Given the description of an element on the screen output the (x, y) to click on. 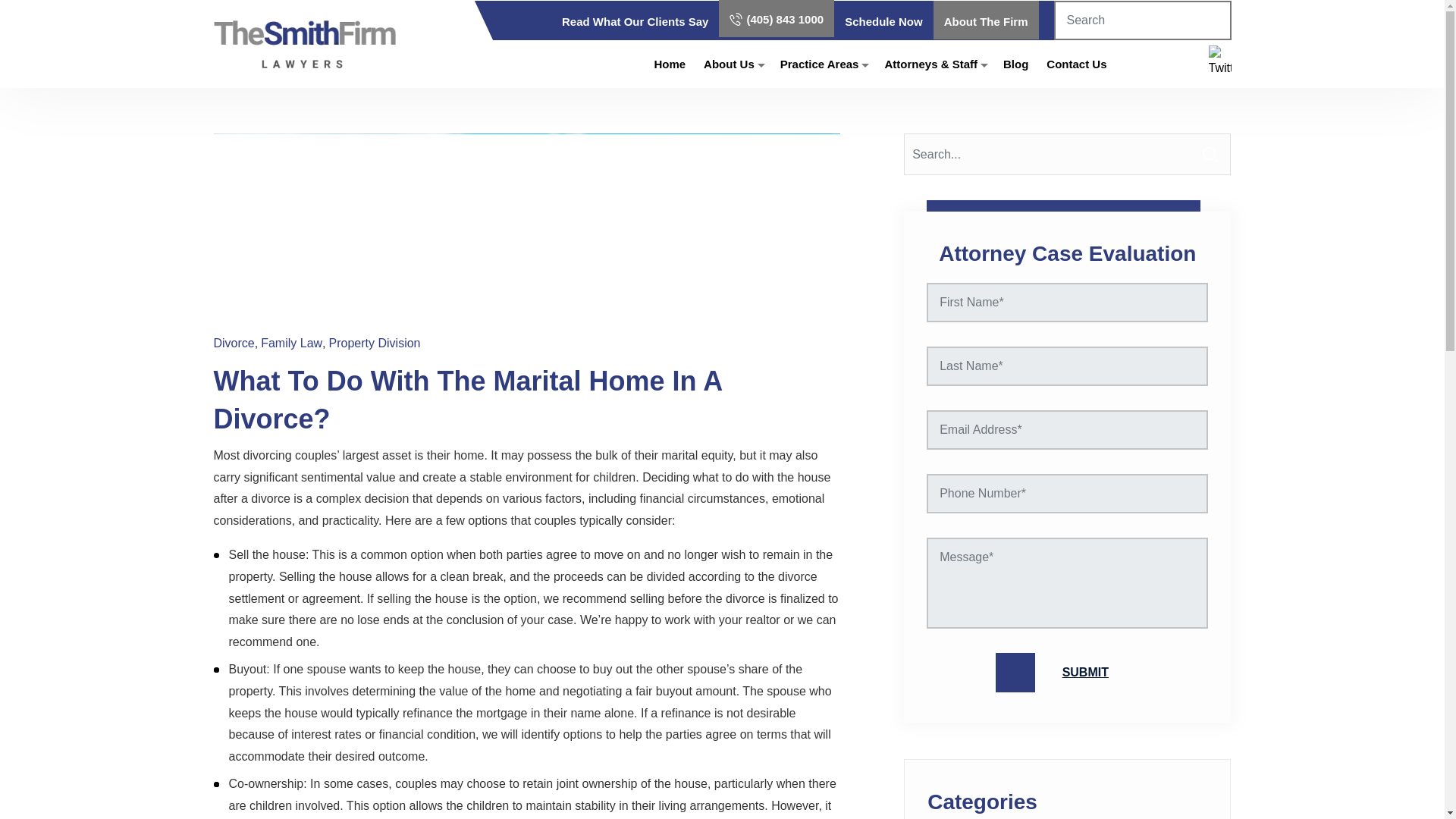
Schedule Now (883, 21)
Read What Our Clients Say (634, 21)
About Us (728, 63)
Home (669, 63)
submit (1067, 672)
Blog (1015, 63)
Practice Areas (819, 63)
About The Firm (985, 21)
Contact Us (1076, 63)
